Given the description of an element on the screen output the (x, y) to click on. 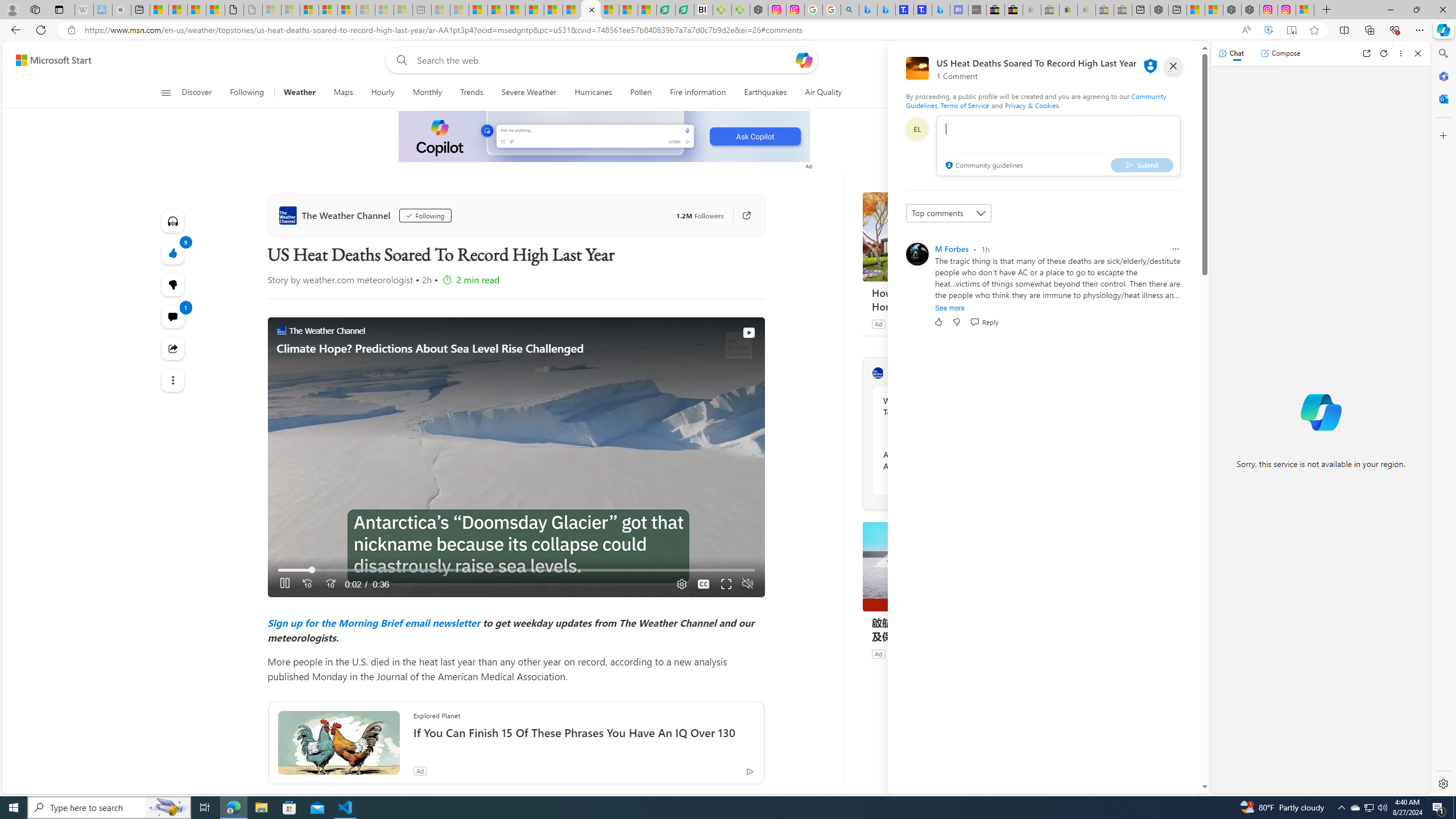
LendingTree - Compare Lenders (684, 9)
close (1173, 65)
Weather Words: 'The Dvorak Technique' (944, 406)
Unmute (746, 583)
Visit The Weather Channel website (1018, 372)
Earthquakes (765, 92)
Terms of Service (965, 104)
alabama high school quarterback dies - Search (849, 9)
The Weather Channel (877, 372)
